Given the description of an element on the screen output the (x, y) to click on. 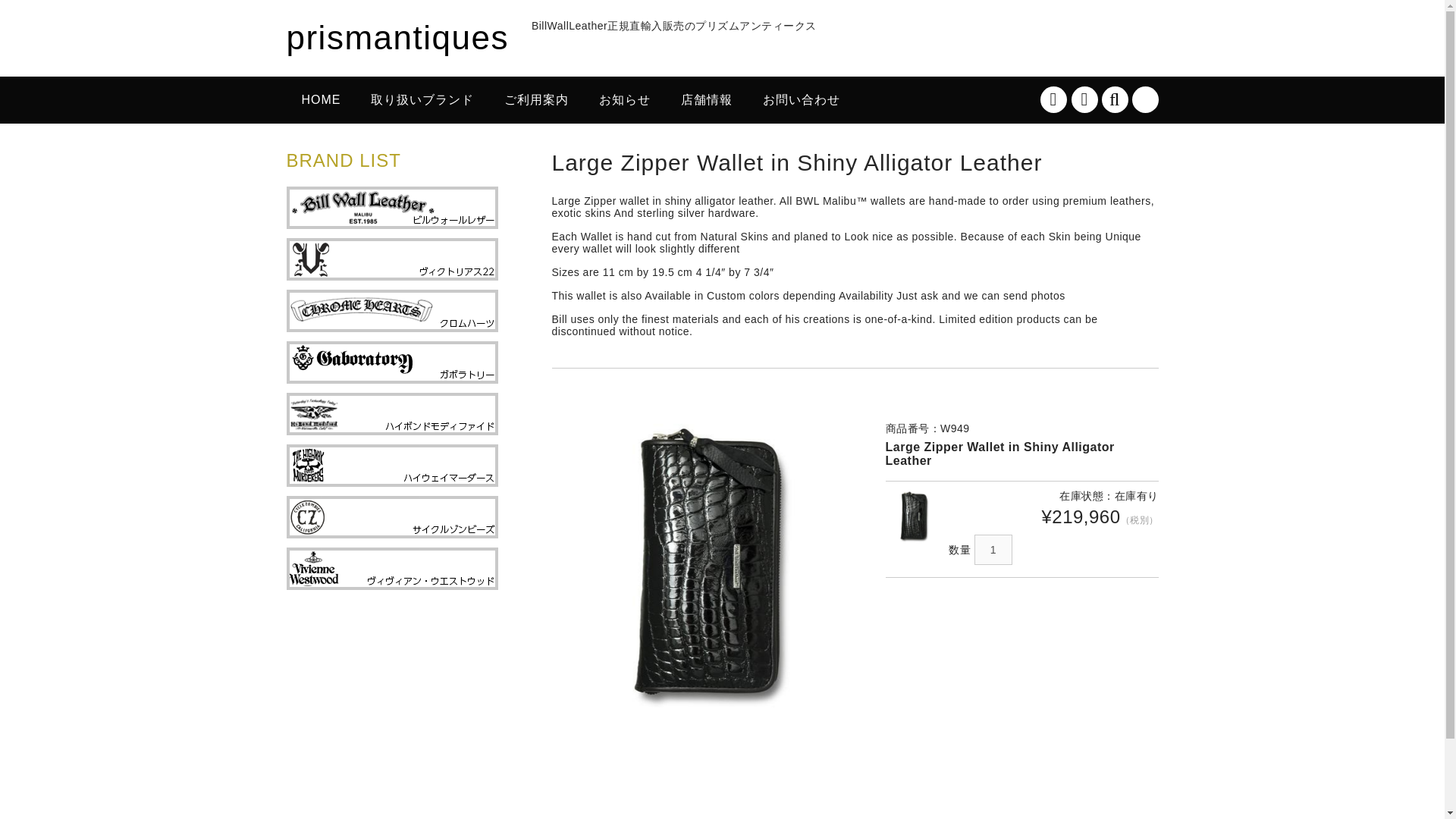
prismantiques  (397, 37)
HOME (321, 99)
prismantiques (397, 37)
0 (1144, 99)
1 (992, 549)
